Given the description of an element on the screen output the (x, y) to click on. 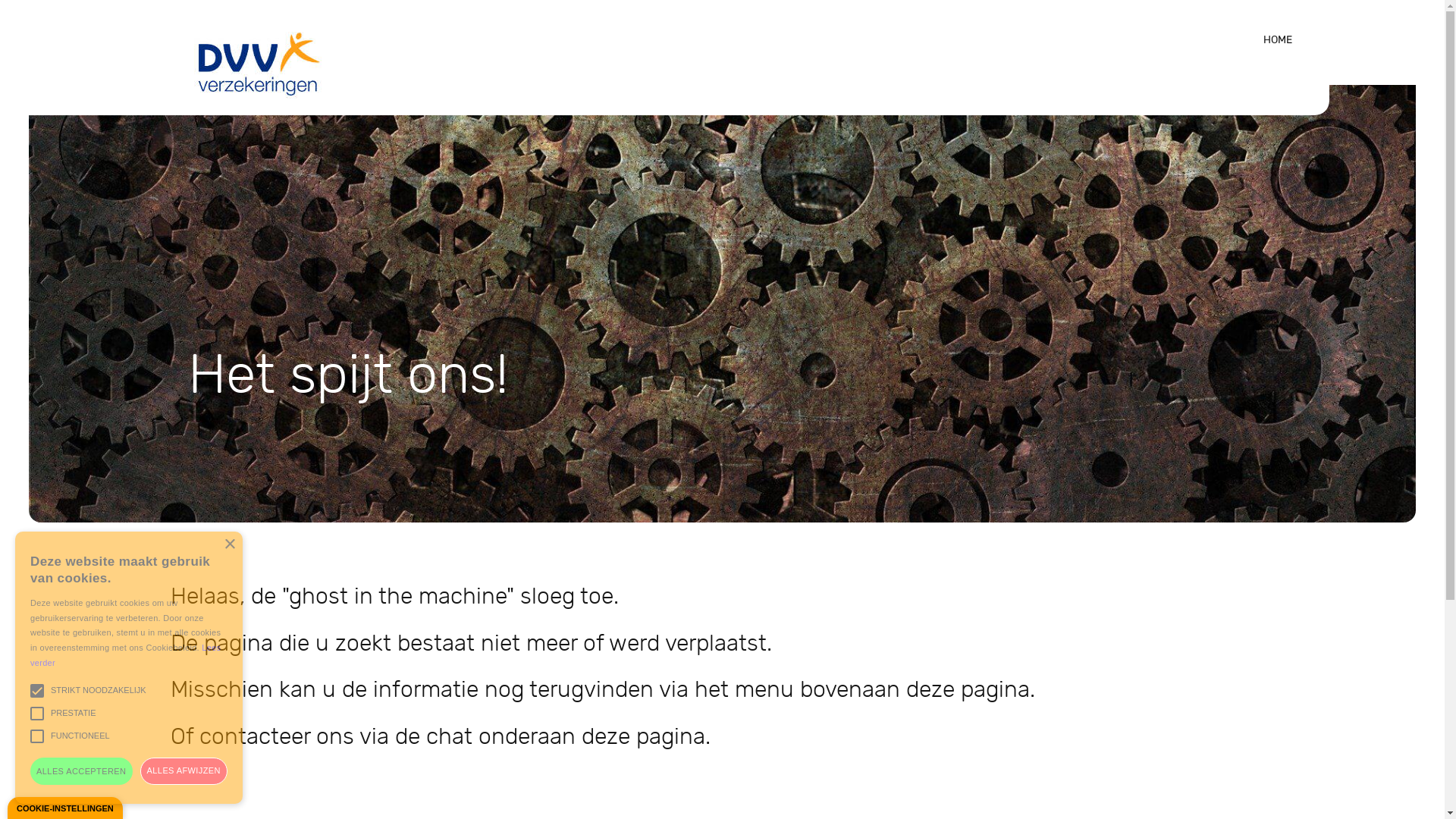
Lees verder Element type: text (125, 655)
HOME Element type: text (1277, 39)
